Given the description of an element on the screen output the (x, y) to click on. 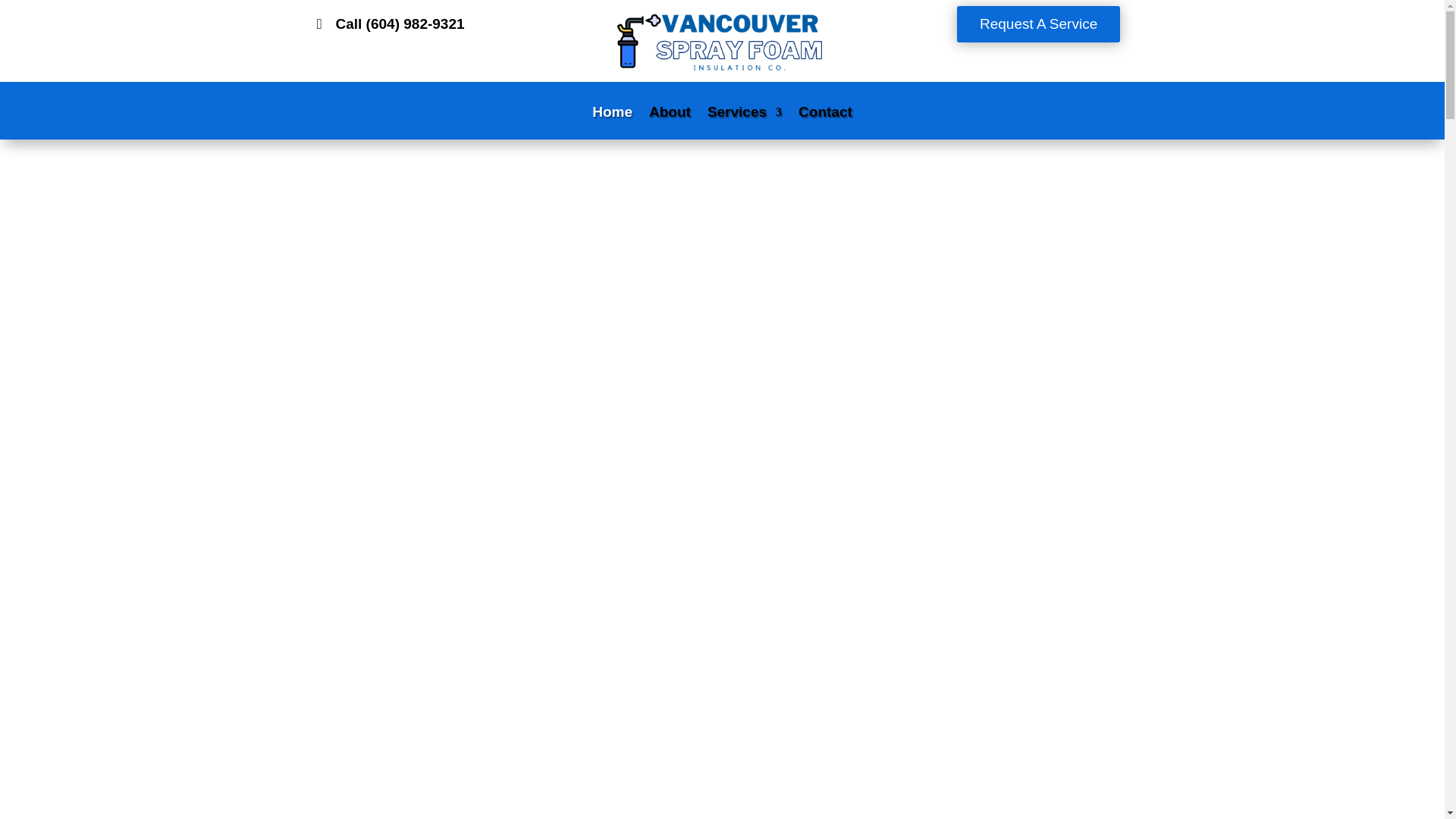
Request A Service (1037, 23)
vancouver-spray-foam-insulation-co-logo (721, 40)
Home (611, 123)
Contact (824, 123)
Services (744, 123)
Submit (975, 769)
About (669, 123)
